Given the description of an element on the screen output the (x, y) to click on. 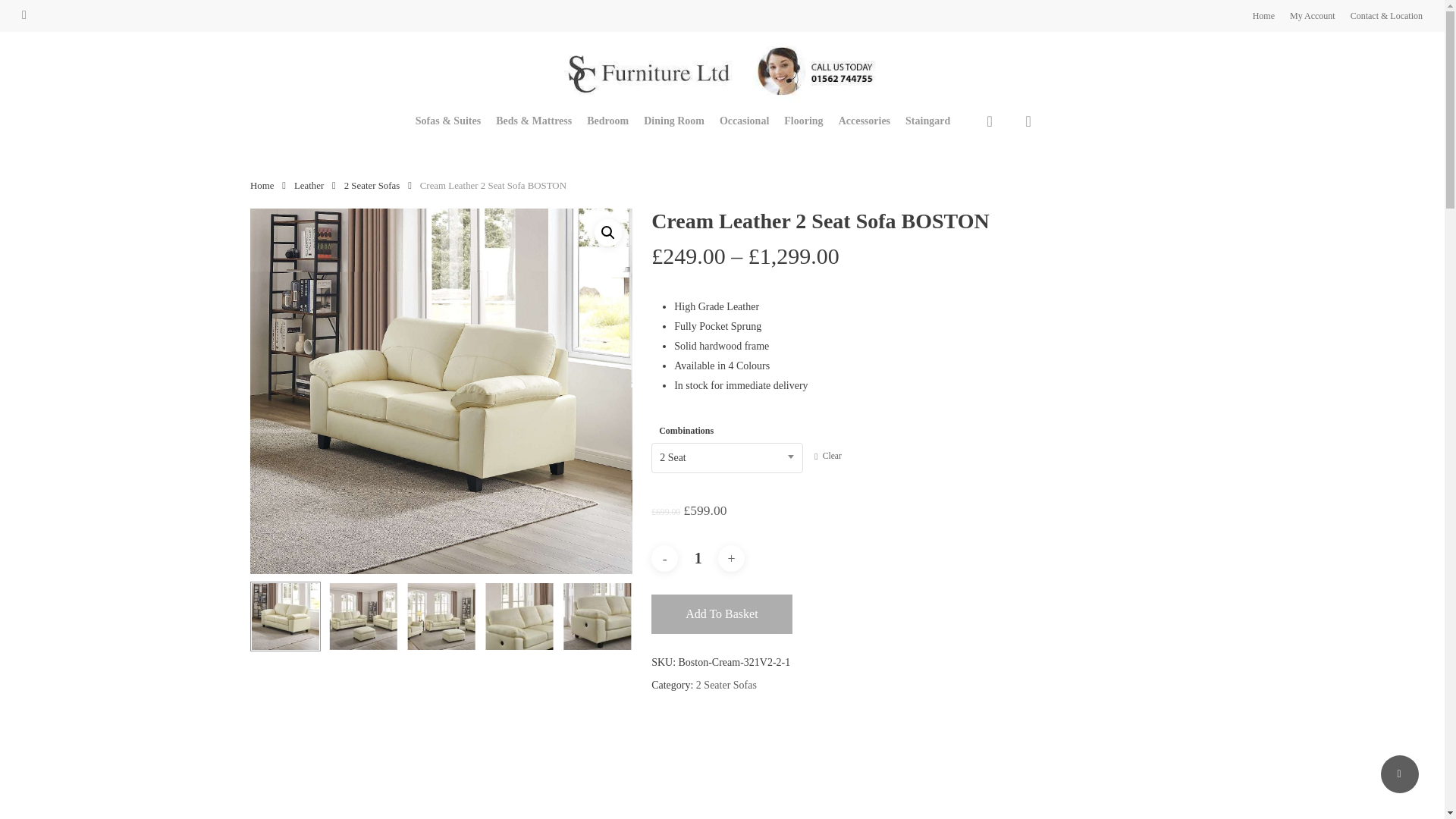
Home (1263, 15)
2 Seat (727, 457)
- (664, 558)
My Account (1312, 15)
1 (698, 558)
